Given the description of an element on the screen output the (x, y) to click on. 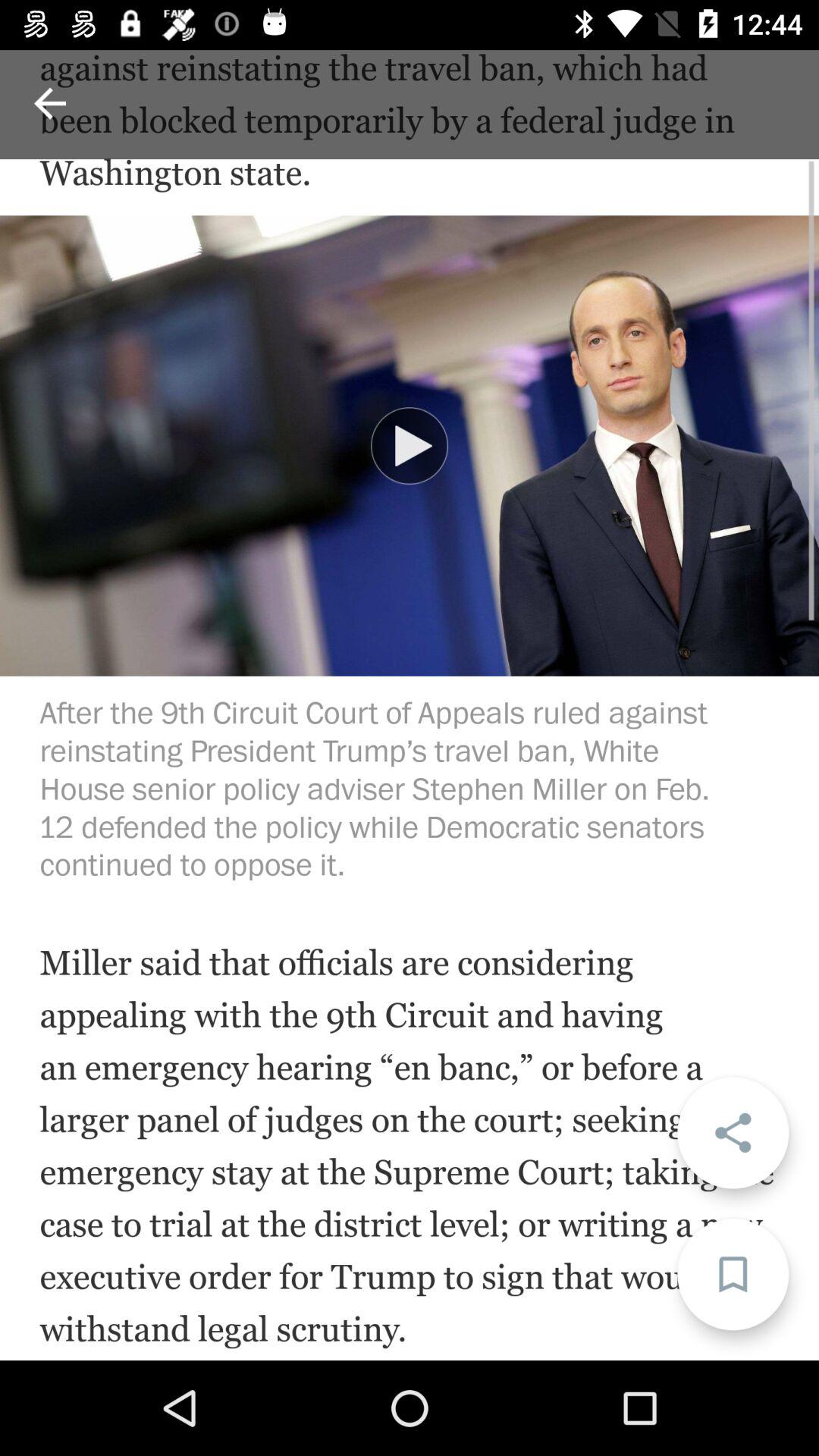
select item below white house senior item (409, 445)
